Given the description of an element on the screen output the (x, y) to click on. 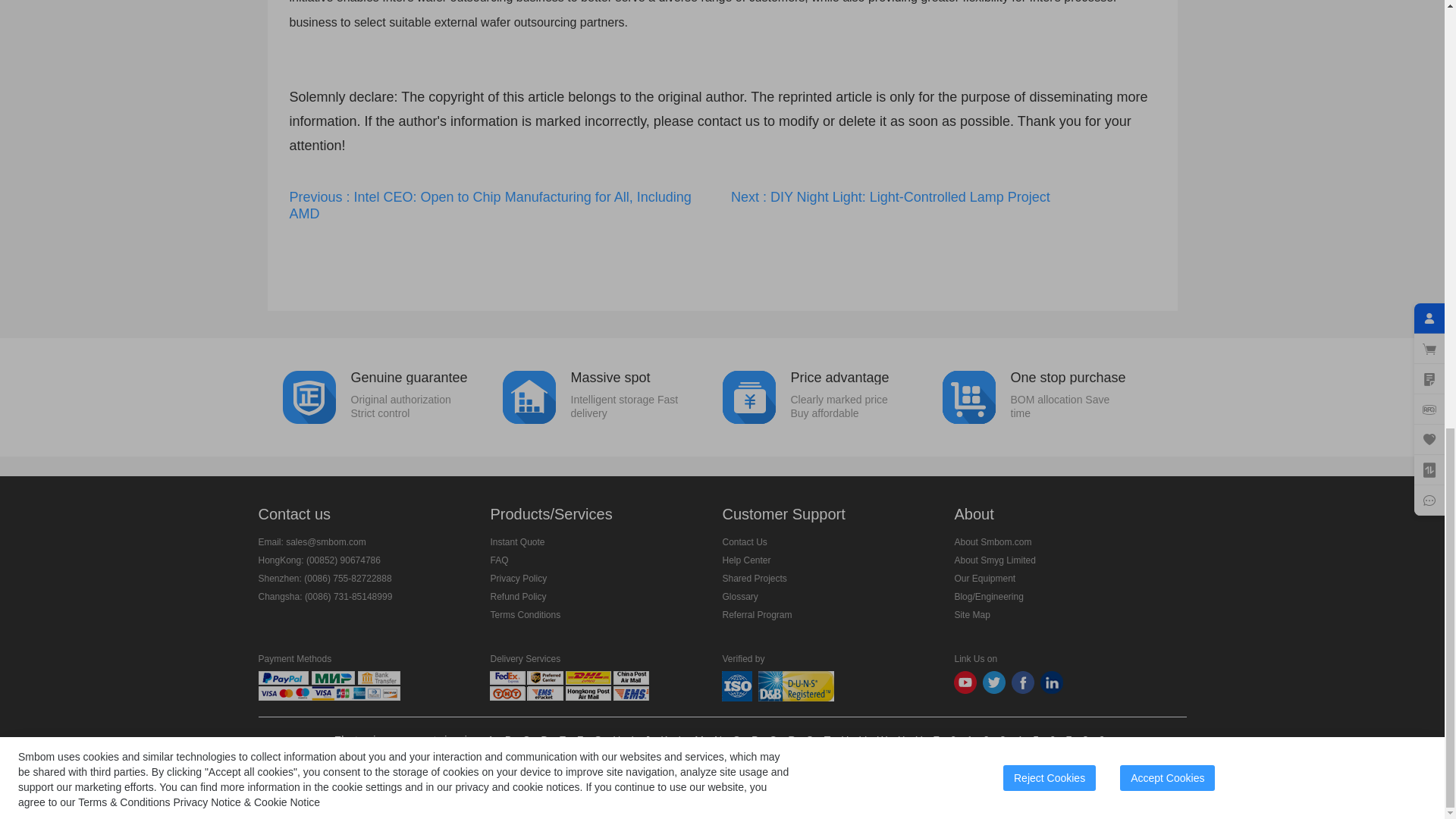
Next : DIY Night Light: Light-Controlled Lamp Project (392, 395)
Glossary (832, 395)
Shared Projects (943, 197)
FAQ (739, 596)
Instant Quote (754, 578)
Terms Conditions (498, 560)
